Given the description of an element on the screen output the (x, y) to click on. 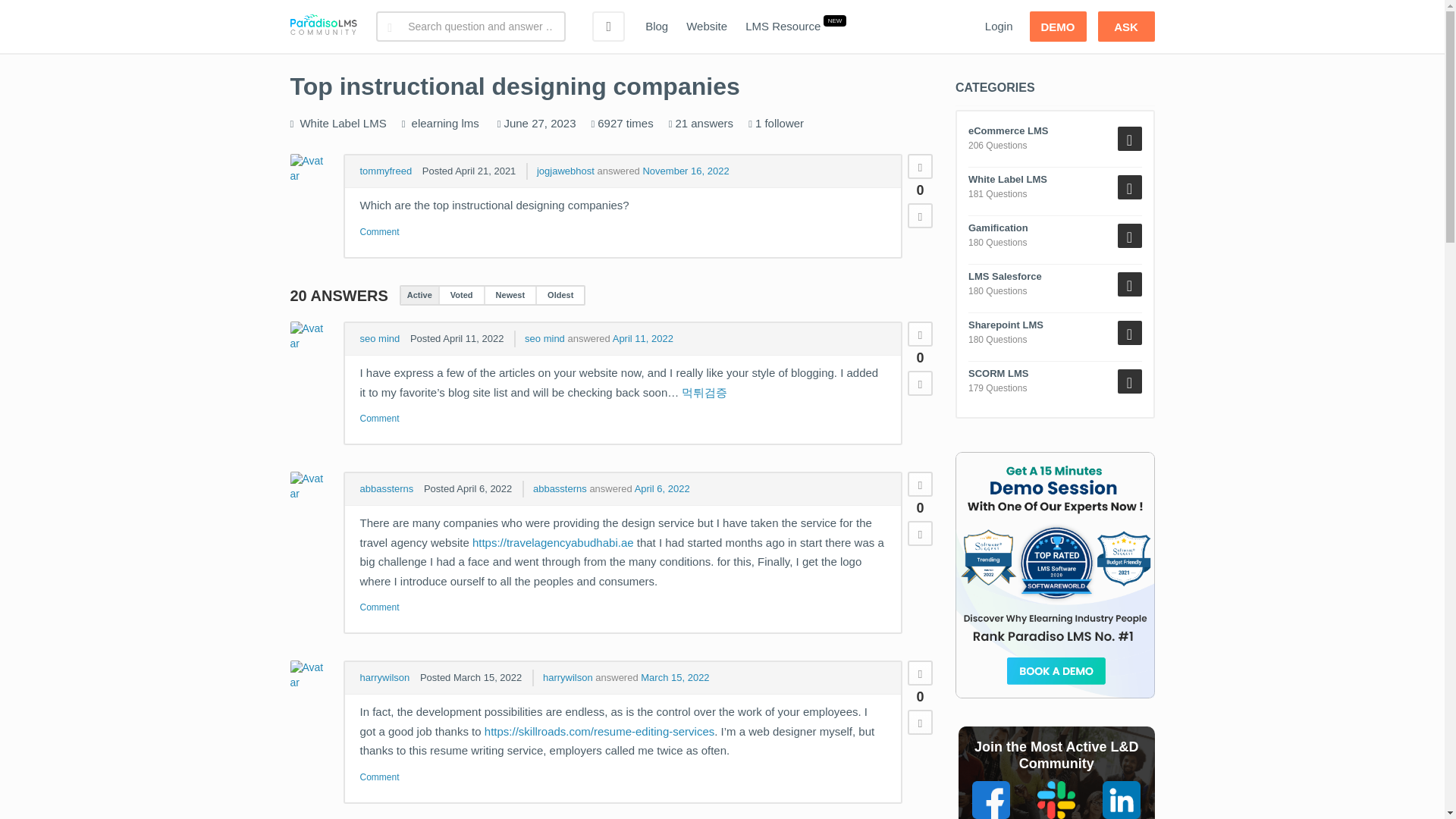
Voted (461, 294)
LMS Resource (782, 26)
Search for: (470, 26)
Blog (656, 26)
Website (706, 26)
November 16, 2022 (685, 170)
lms (470, 123)
Website (706, 26)
tommyfreed (385, 170)
elearning (435, 123)
